Given the description of an element on the screen output the (x, y) to click on. 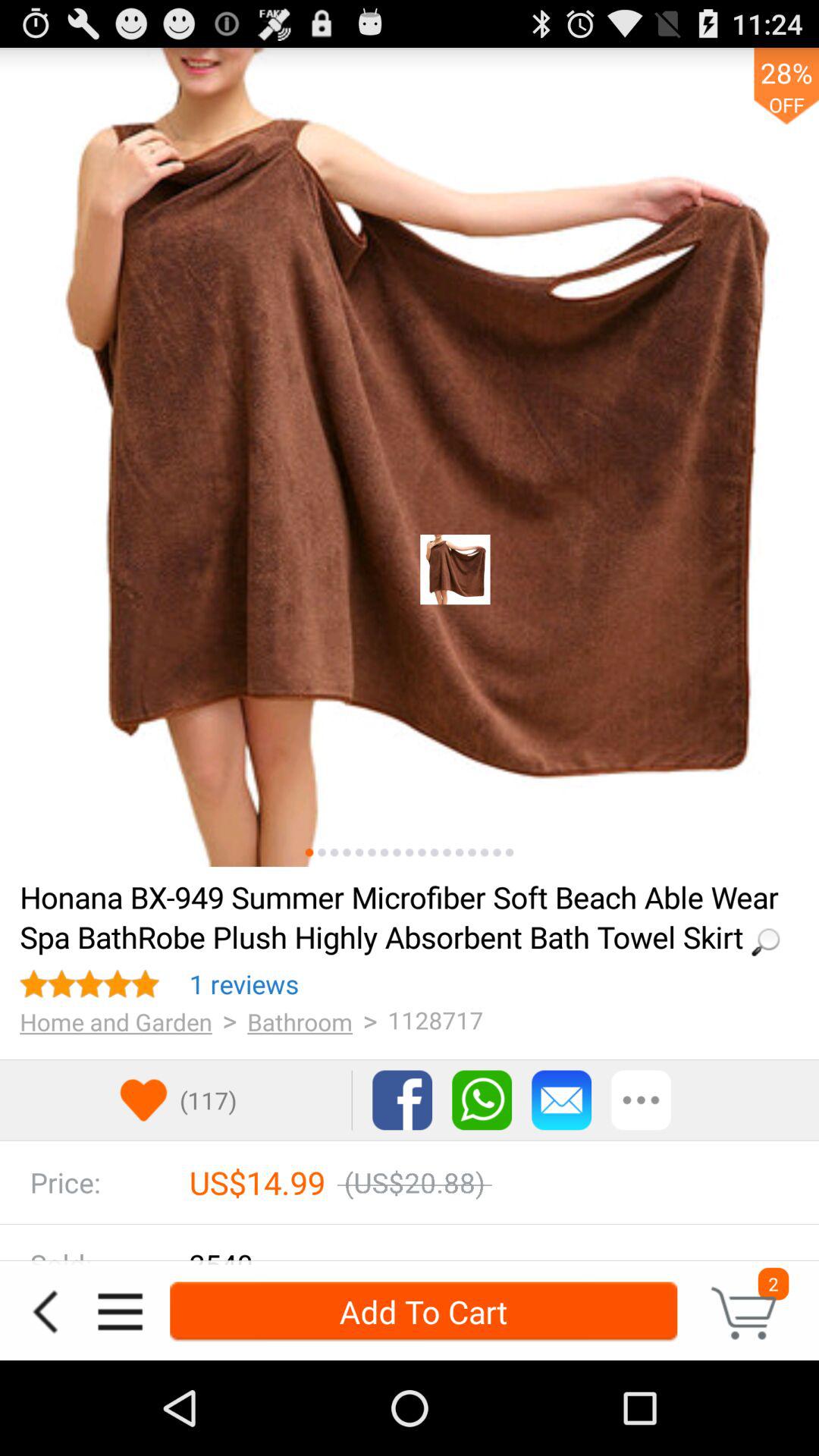
turn off item above the loading... (384, 852)
